Given the description of an element on the screen output the (x, y) to click on. 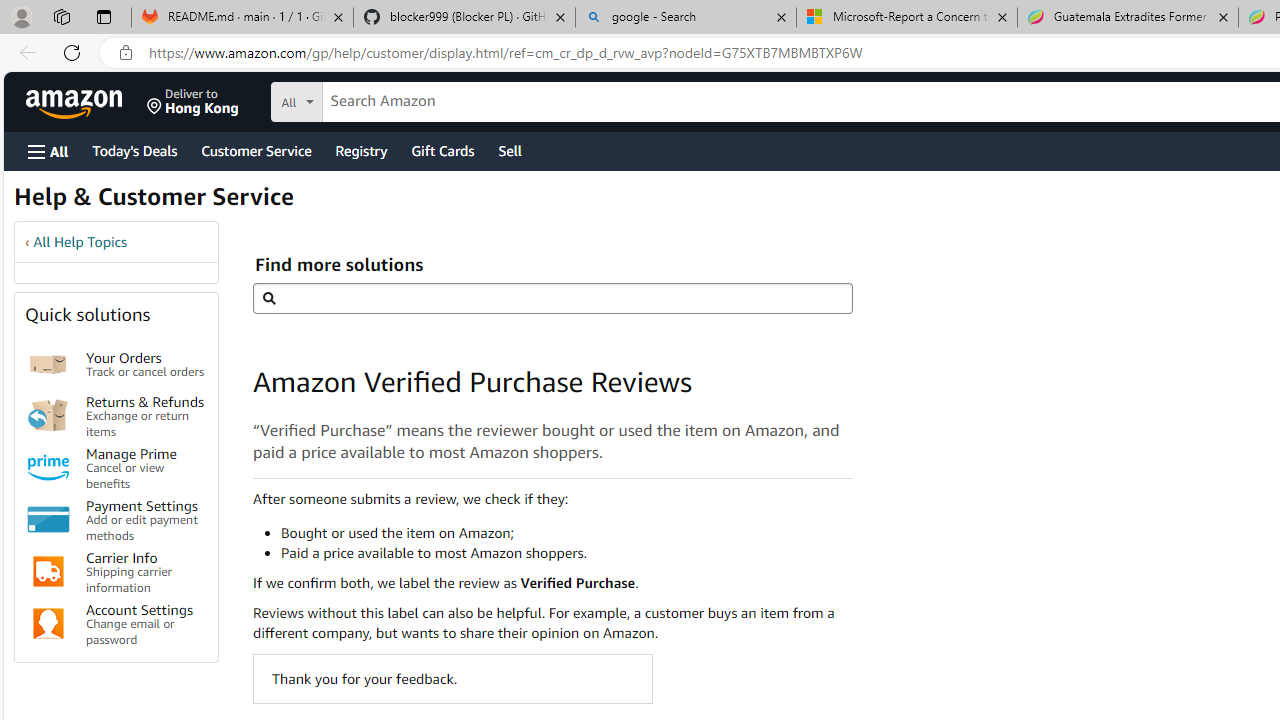
Deliver to Hong Kong (193, 101)
Returns & Refunds (48, 415)
Search in (371, 99)
Registry (360, 150)
Manage Prime Cancel or view benefits (145, 466)
Bought or used the item on Amazon; (566, 532)
Account Settings (48, 623)
Today's Deals (134, 150)
Sell (509, 150)
Customer Service (256, 150)
Payment Settings (48, 520)
